Given the description of an element on the screen output the (x, y) to click on. 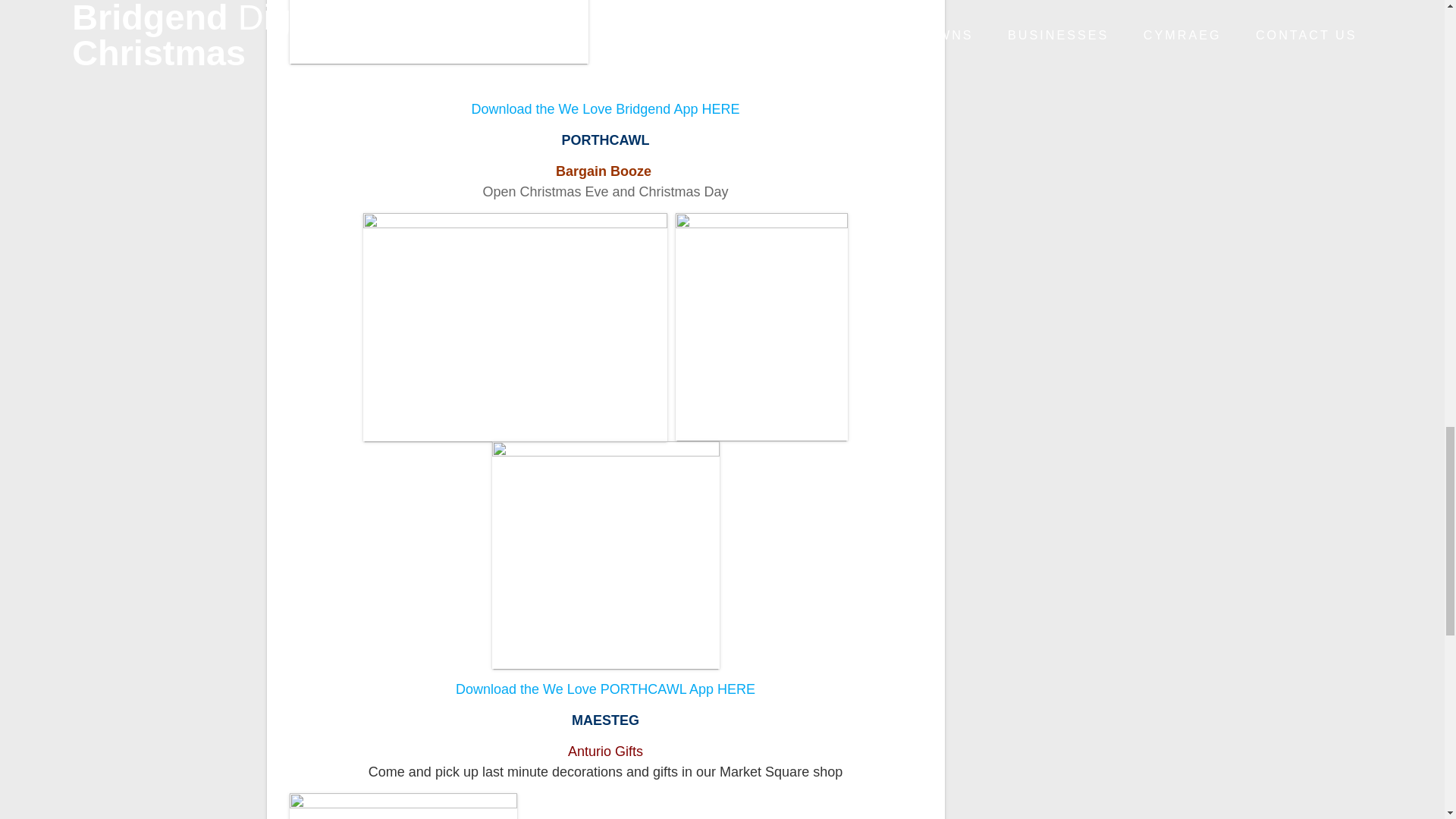
PORTHCAWL (604, 140)
Anturio Gifts (605, 751)
Bargain Booze  (605, 171)
Download the We Love Bridgend App HERE (605, 109)
Download the We Love PORTHCAWL App HERE (605, 688)
